Given the description of an element on the screen output the (x, y) to click on. 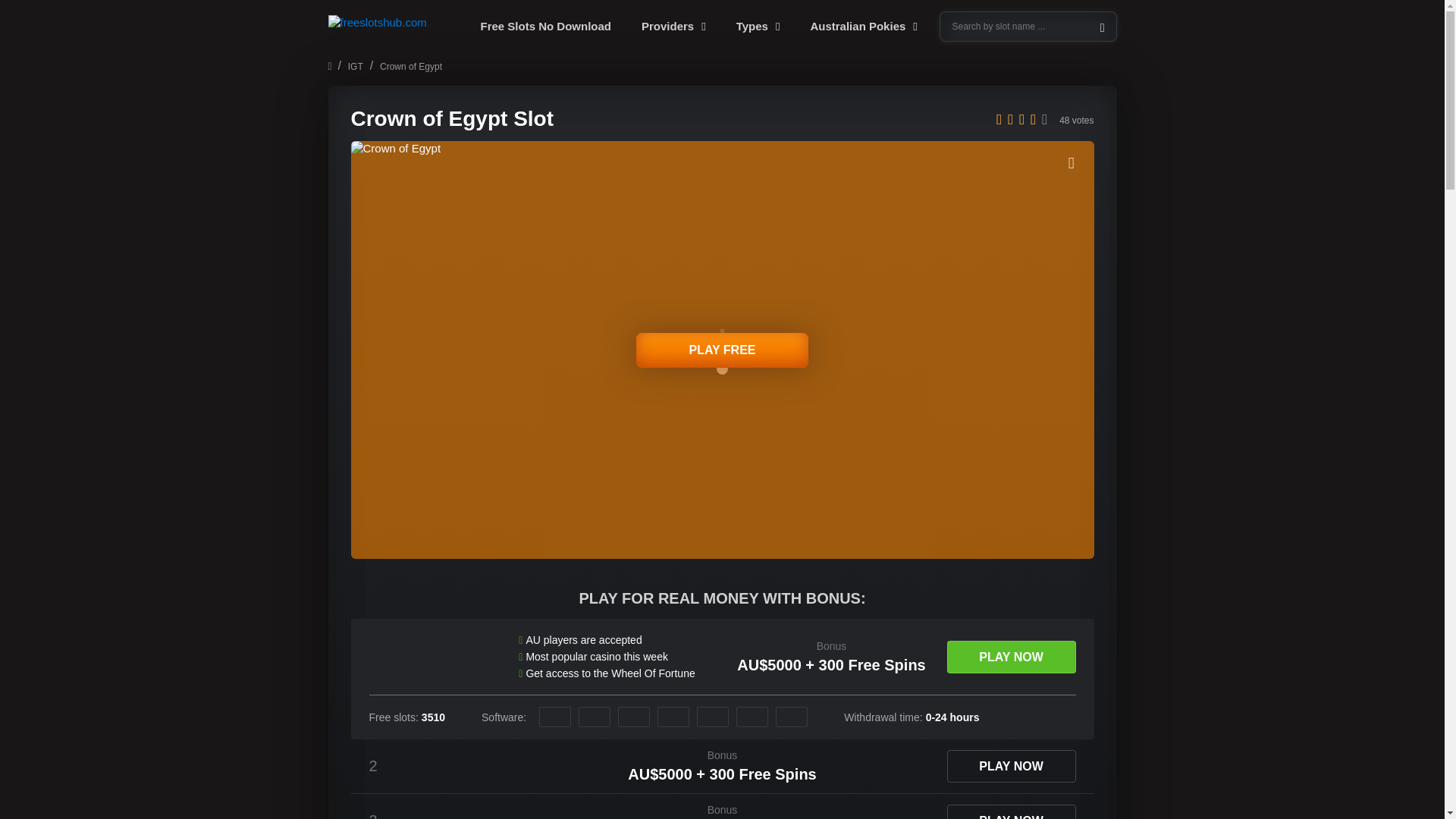
Providers (673, 26)
Free Slots No Download (546, 26)
Search (1027, 26)
PLAY NOW (1010, 656)
Types (757, 26)
Australian Pokies (862, 26)
IGT (354, 66)
PLAY NOW (1010, 811)
PLAY NOW (1010, 766)
Search (24, 10)
